Given the description of an element on the screen output the (x, y) to click on. 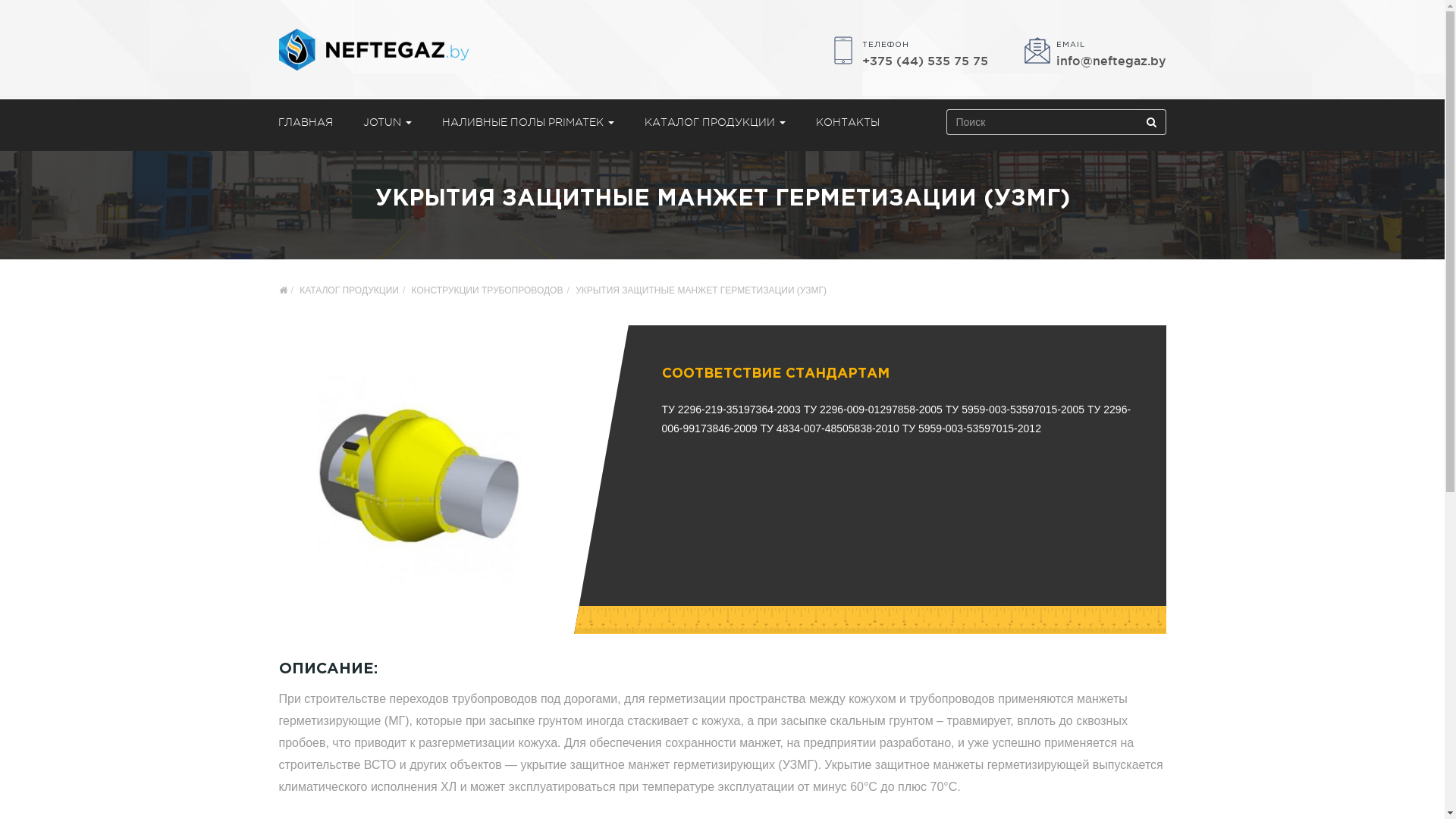
+375 (44) 535 75 75 Element type: text (924, 61)
JOTUN Element type: text (386, 121)
info@neftegaz.by Element type: text (1110, 61)
